Given the description of an element on the screen output the (x, y) to click on. 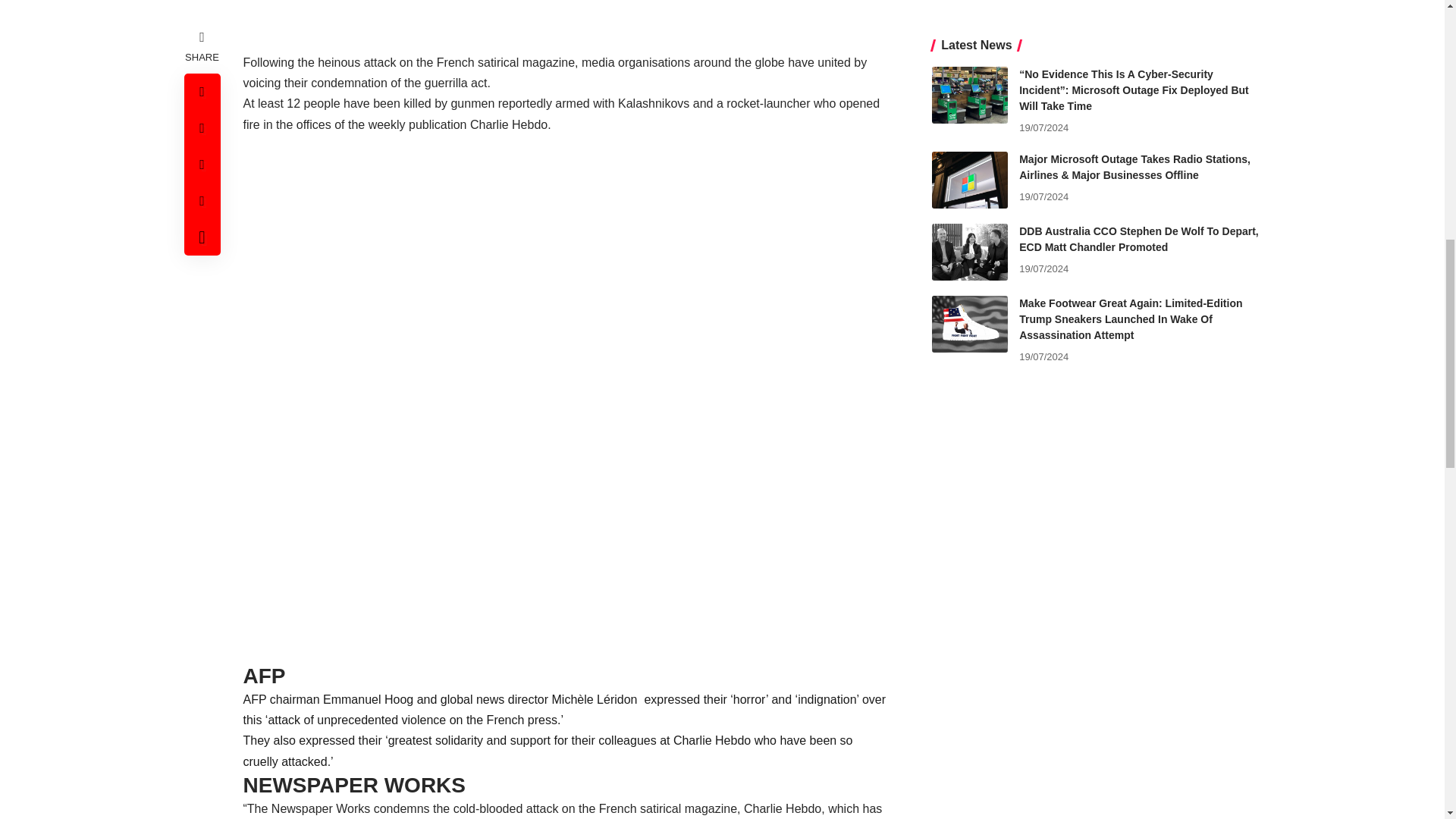
Page 1 (564, 754)
